Given the description of an element on the screen output the (x, y) to click on. 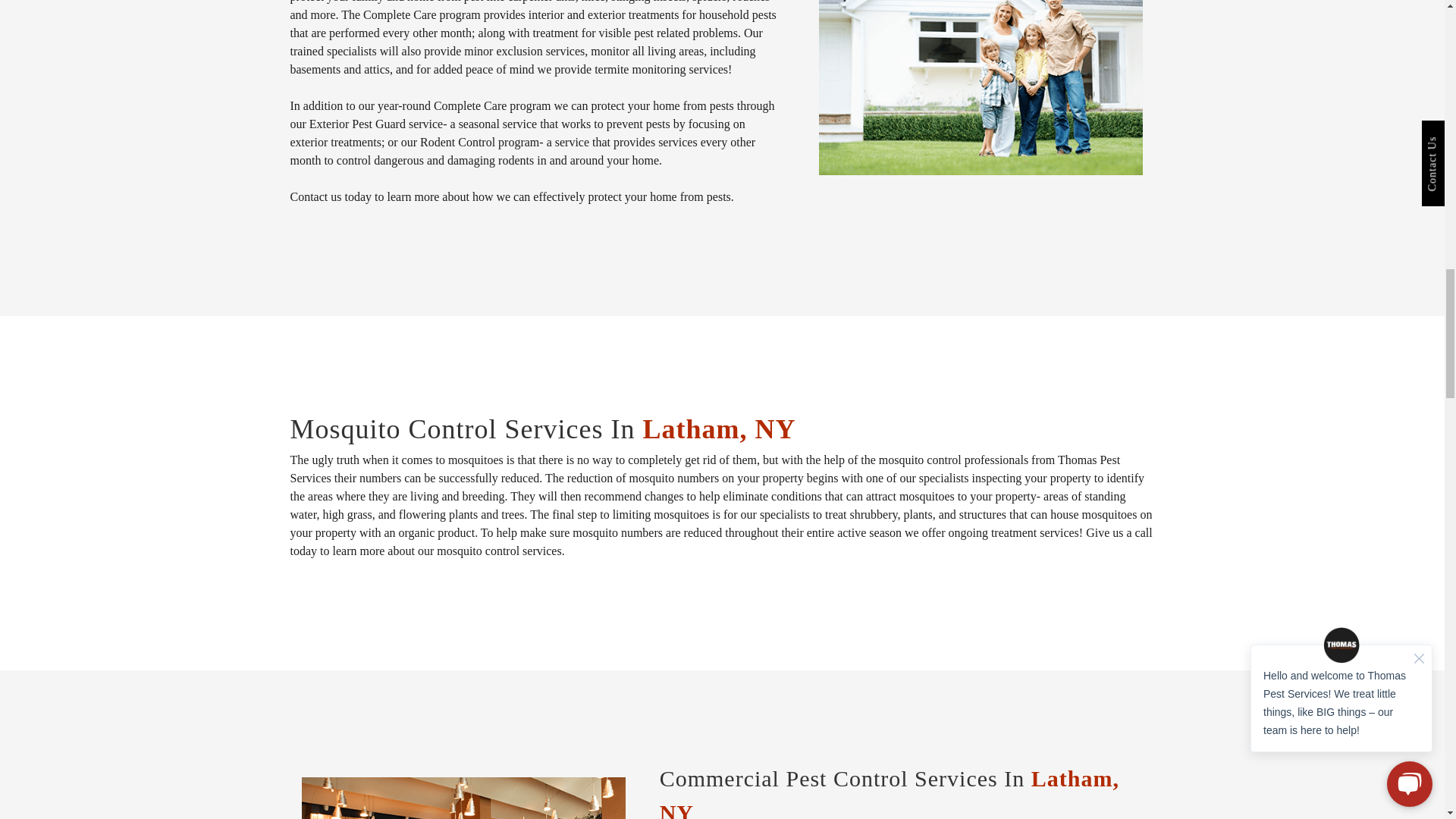
family-in-front-of-latham-ny-home (980, 87)
restaurant-in-latham-ny (463, 798)
